Given the description of an element on the screen output the (x, y) to click on. 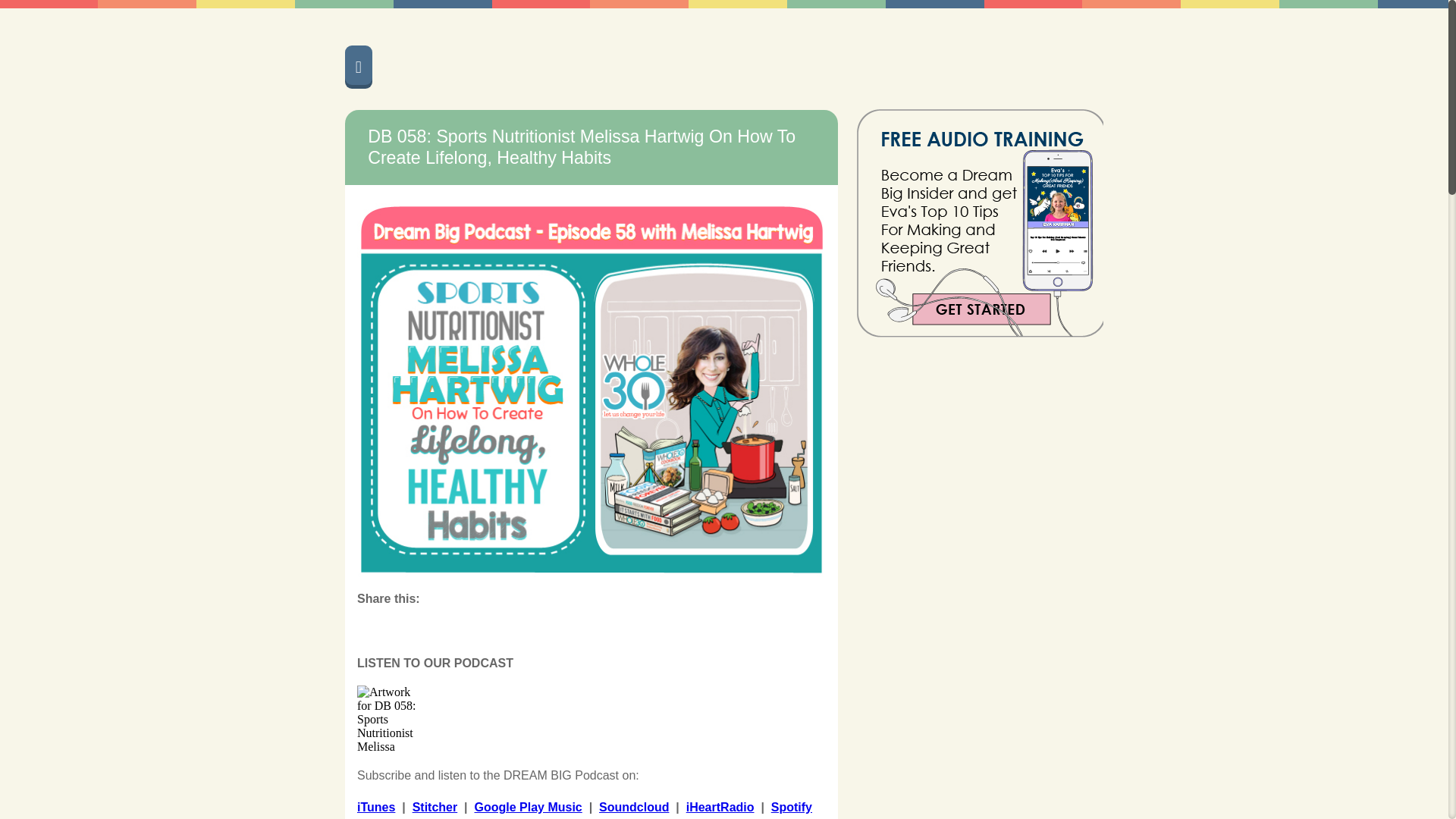
Dreambigpodcast (645, 65)
Spotify (791, 807)
Soundcloud (633, 807)
Stitcher (435, 807)
iTunes (375, 807)
iHeartRadio (719, 807)
Google Play Music (527, 807)
